Given the description of an element on the screen output the (x, y) to click on. 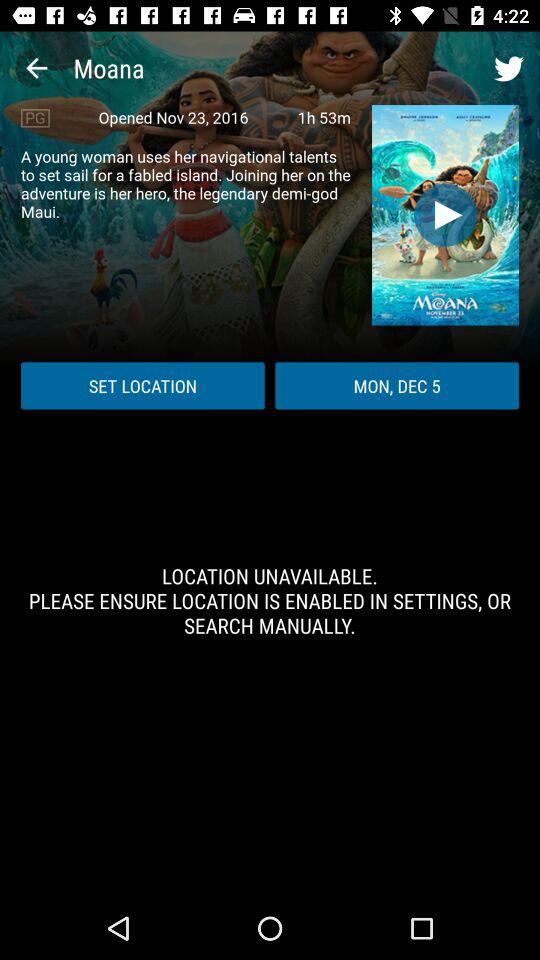
turn off the item next to the moana icon (36, 68)
